Given the description of an element on the screen output the (x, y) to click on. 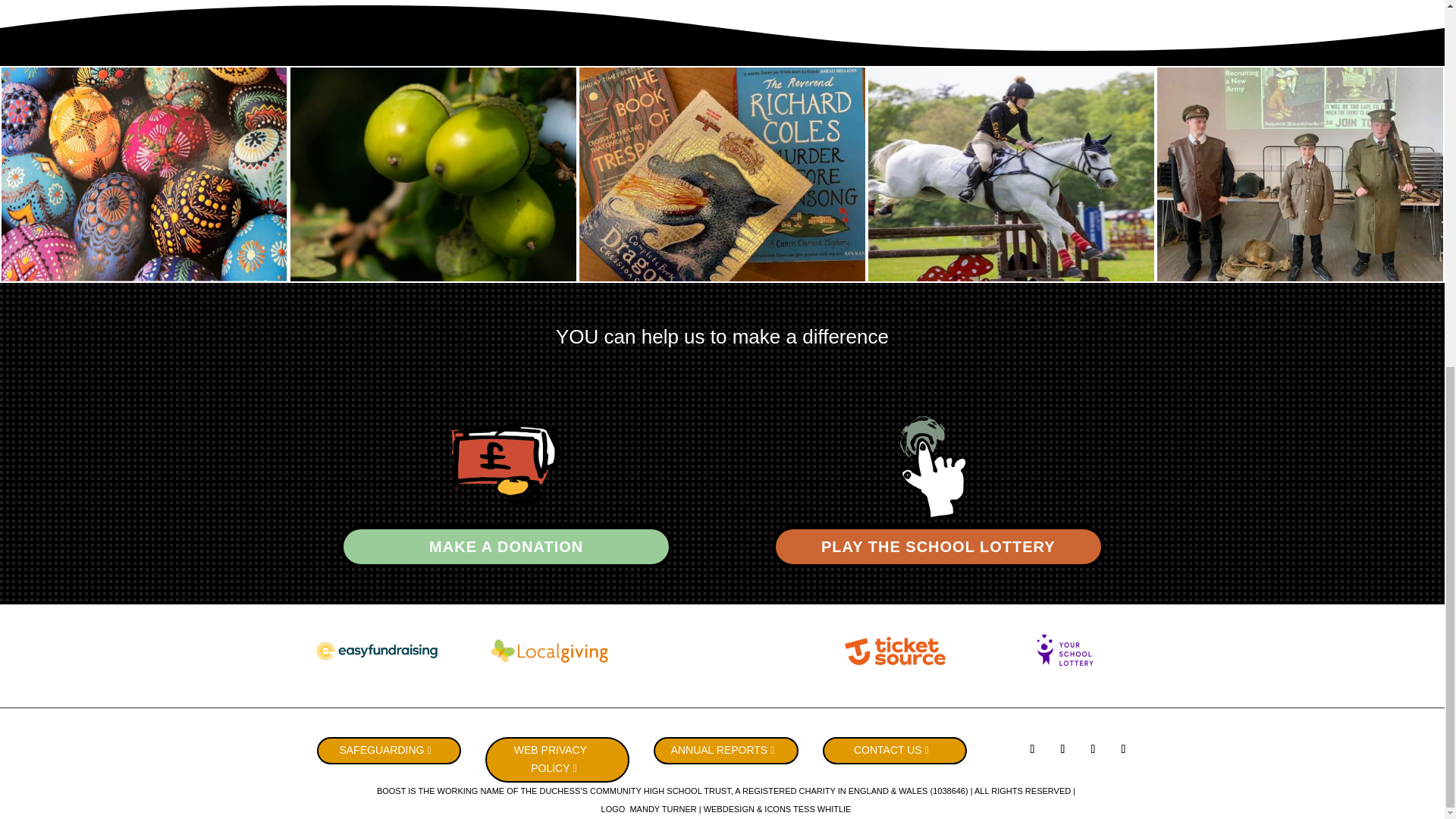
Follow on Facebook (1031, 749)
Follow on Instagram (1122, 749)
easy-fundraising (376, 650)
boost-dchs-04 (937, 468)
LocalGiving (548, 650)
Your School Lottery (1067, 650)
DONATIONS (506, 468)
Follow on LinkedIn (1092, 749)
Follow on X (1061, 749)
Ticket Source (894, 650)
